Given the description of an element on the screen output the (x, y) to click on. 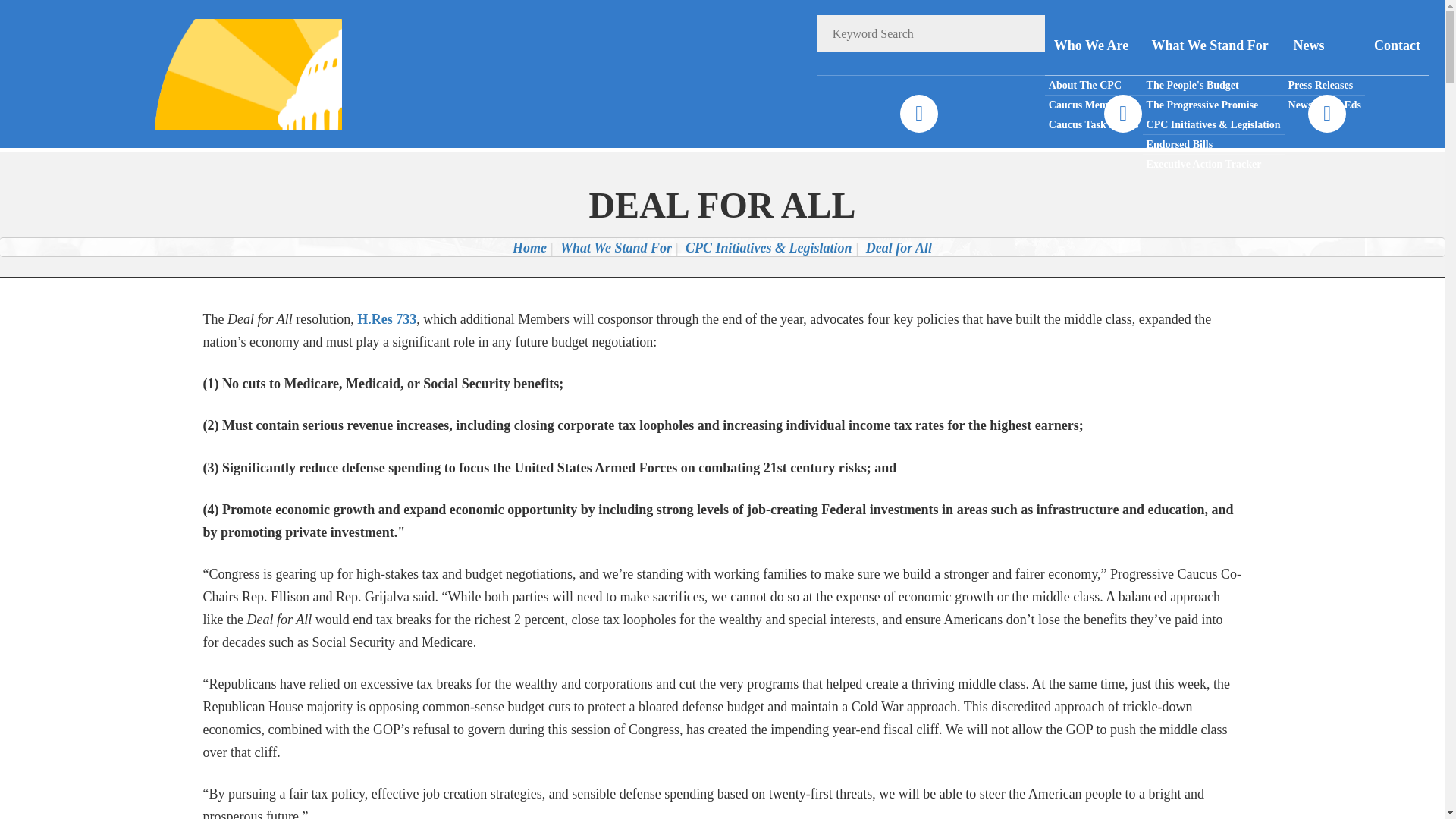
News (1324, 45)
Who We Are (1093, 45)
What We Stand For (1213, 45)
Go (1026, 33)
DEAL FOR ALL (722, 205)
Home (529, 247)
Facebook (918, 113)
H.Res 733 (386, 319)
Twitter (1122, 113)
What We Stand For (615, 247)
The Progressive Promise (1213, 105)
Endorsed Bills (1213, 144)
The People's Budget (1213, 85)
About The CPC (1093, 85)
Deal for All (898, 247)
